Given the description of an element on the screen output the (x, y) to click on. 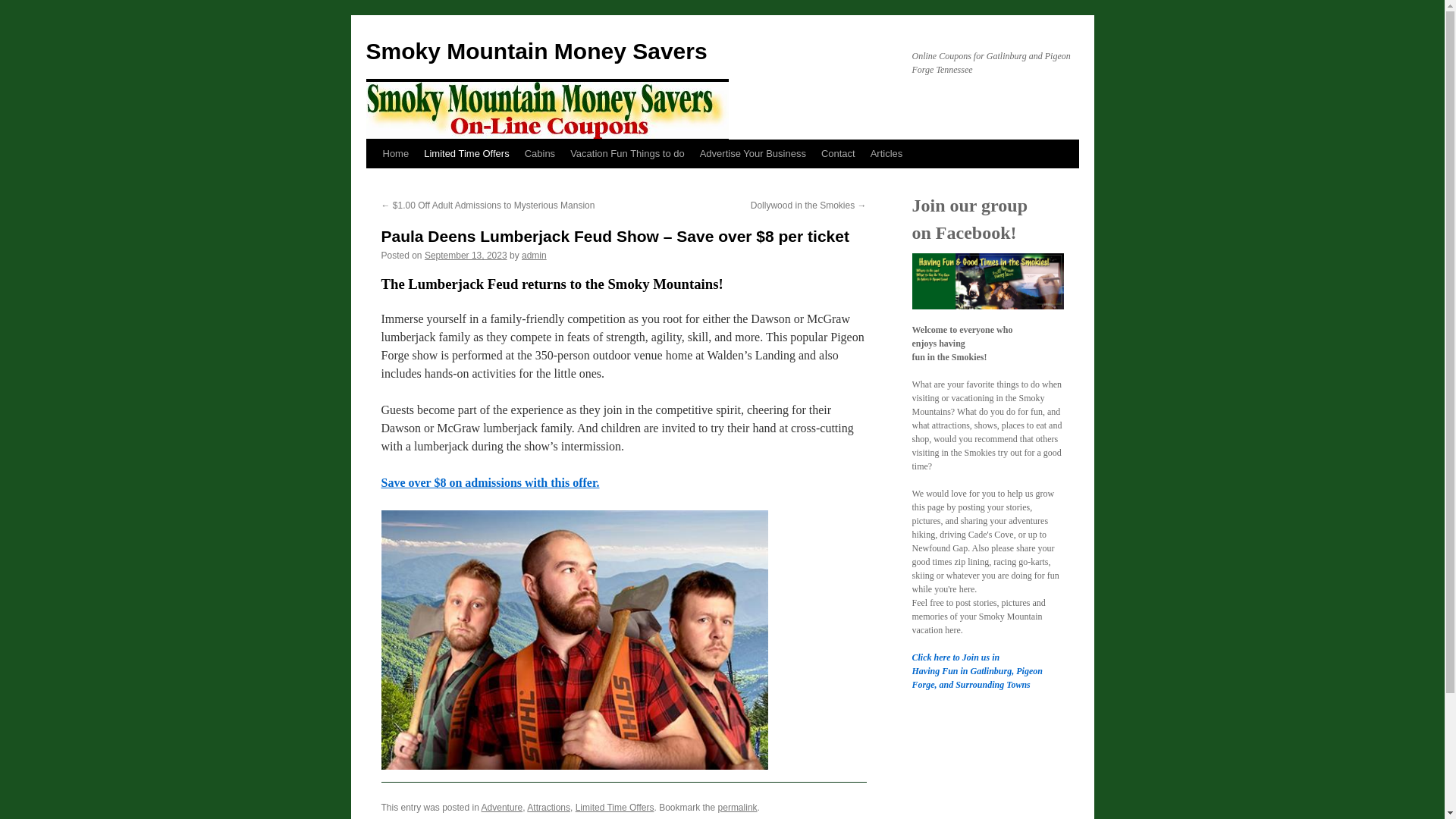
permalink (737, 807)
Adventure (501, 807)
Contact (838, 153)
Vacation Fun Things to do (627, 153)
Advertise Your Business (753, 153)
View all posts by admin (534, 255)
admin (534, 255)
September 13, 2023 (465, 255)
Attractions (548, 807)
